Given the description of an element on the screen output the (x, y) to click on. 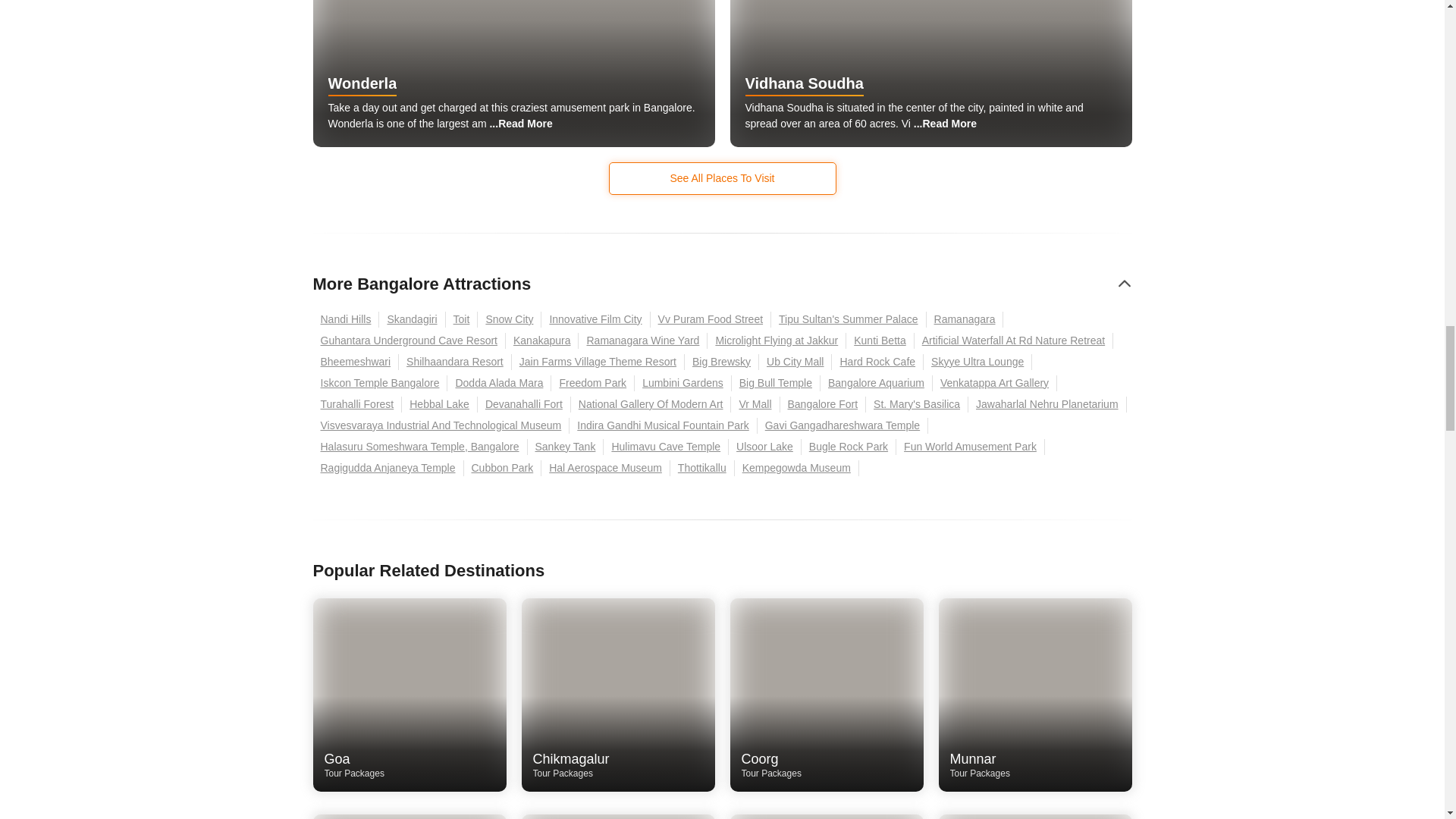
Skandagiri (411, 319)
Nandi Hills (345, 319)
See All Places To Visit (721, 178)
